Given the description of an element on the screen output the (x, y) to click on. 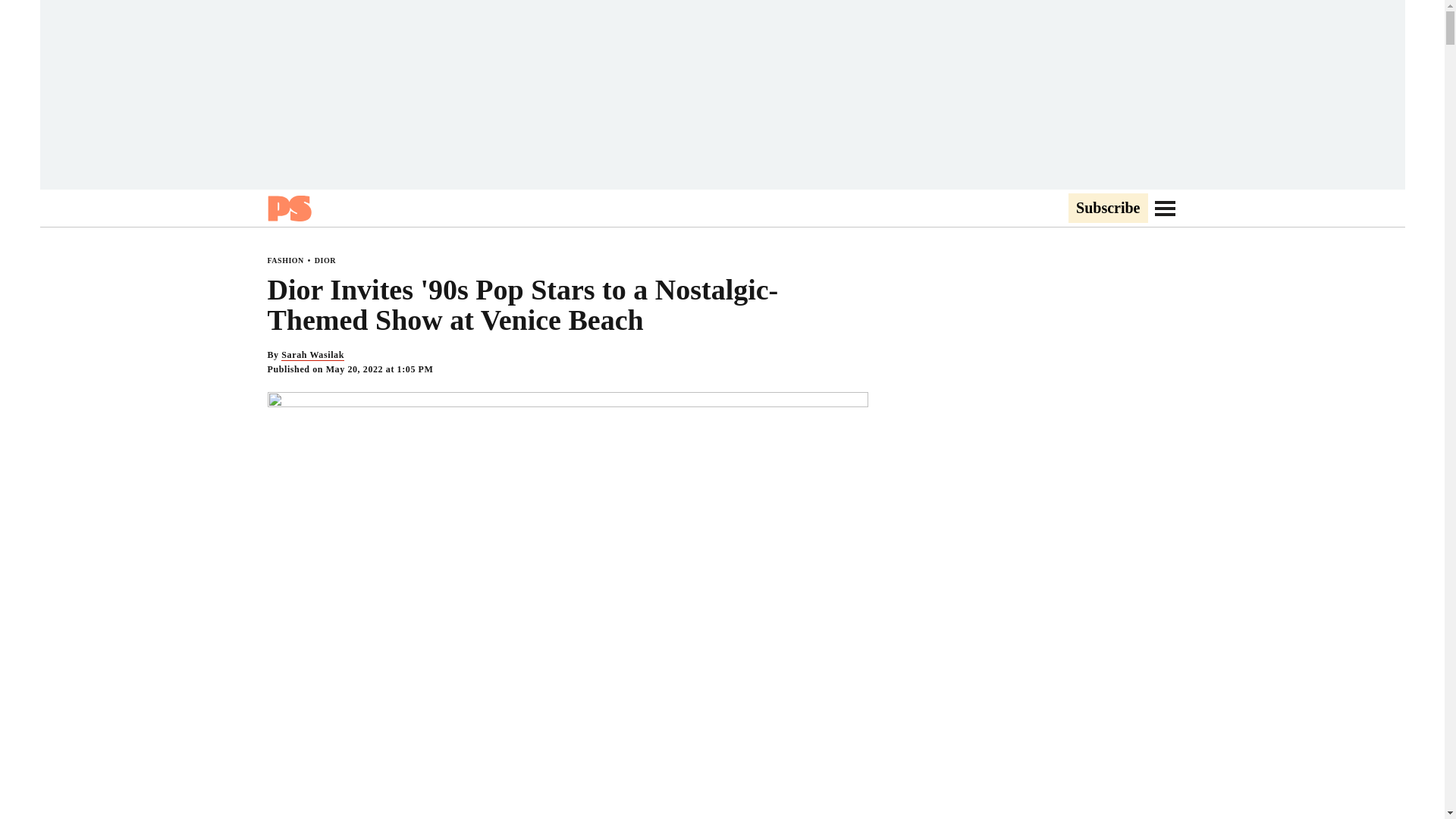
Subscribe (1107, 208)
Popsugar (288, 208)
Go to Navigation (1164, 207)
Sarah Wasilak (312, 355)
DIOR (325, 260)
FASHION (284, 260)
Go to Navigation (1164, 207)
